Given the description of an element on the screen output the (x, y) to click on. 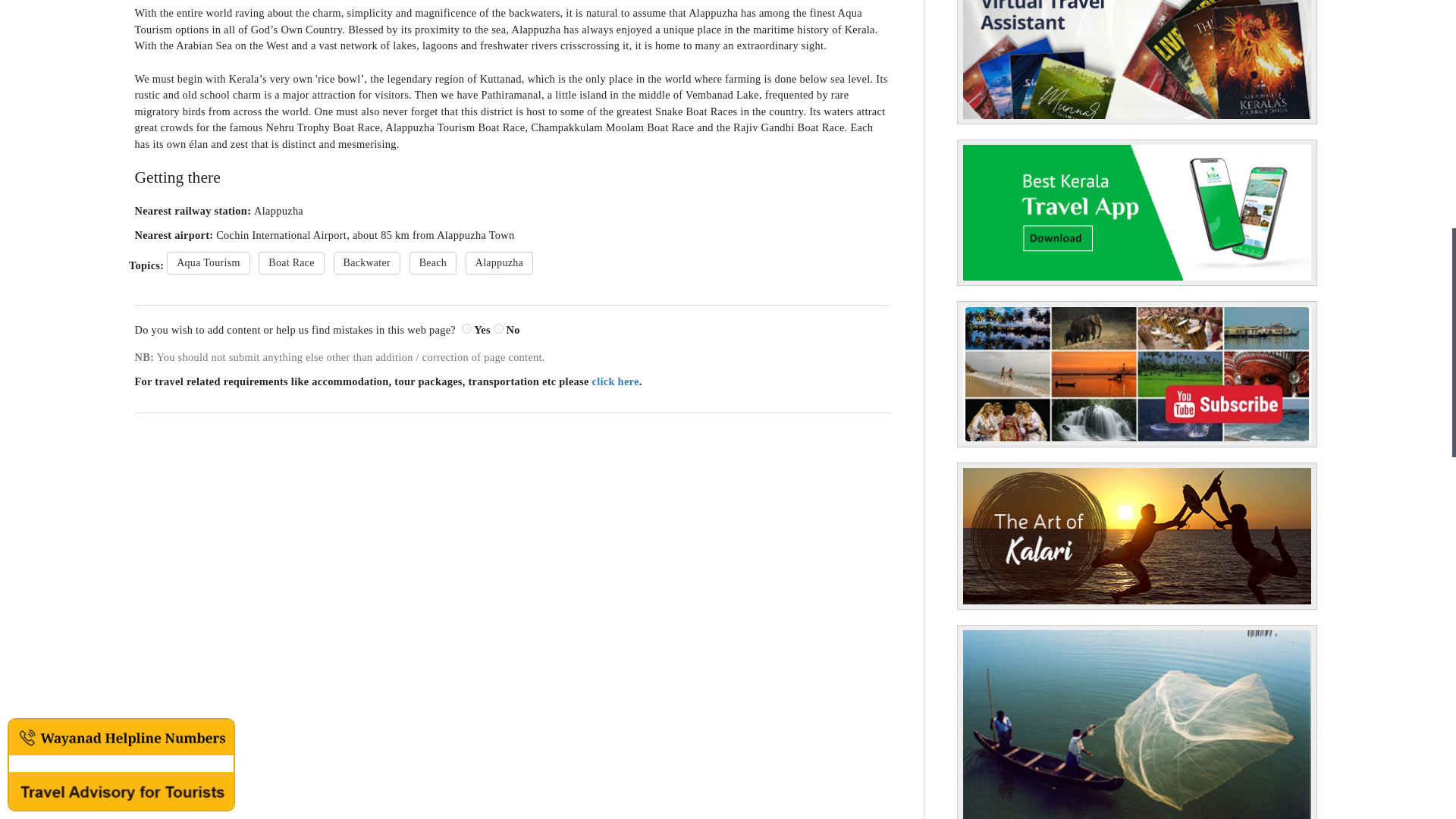
No (498, 328)
Yes (466, 328)
